Given the description of an element on the screen output the (x, y) to click on. 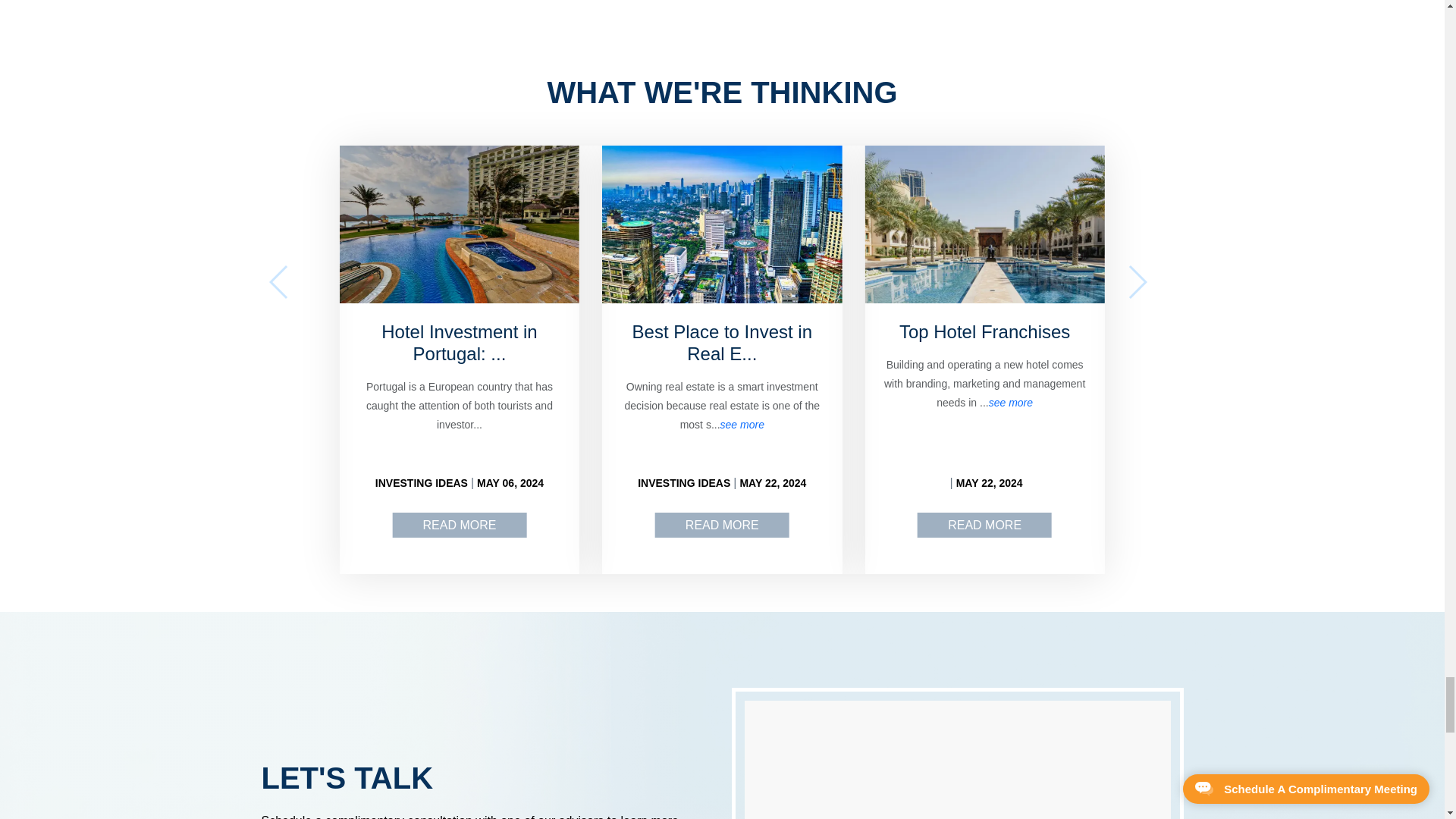
top-hotel-franchises (984, 524)
best-place-to-invest-in-real-estate (722, 524)
hotel-investment-in-portugal (458, 524)
